Given the description of an element on the screen output the (x, y) to click on. 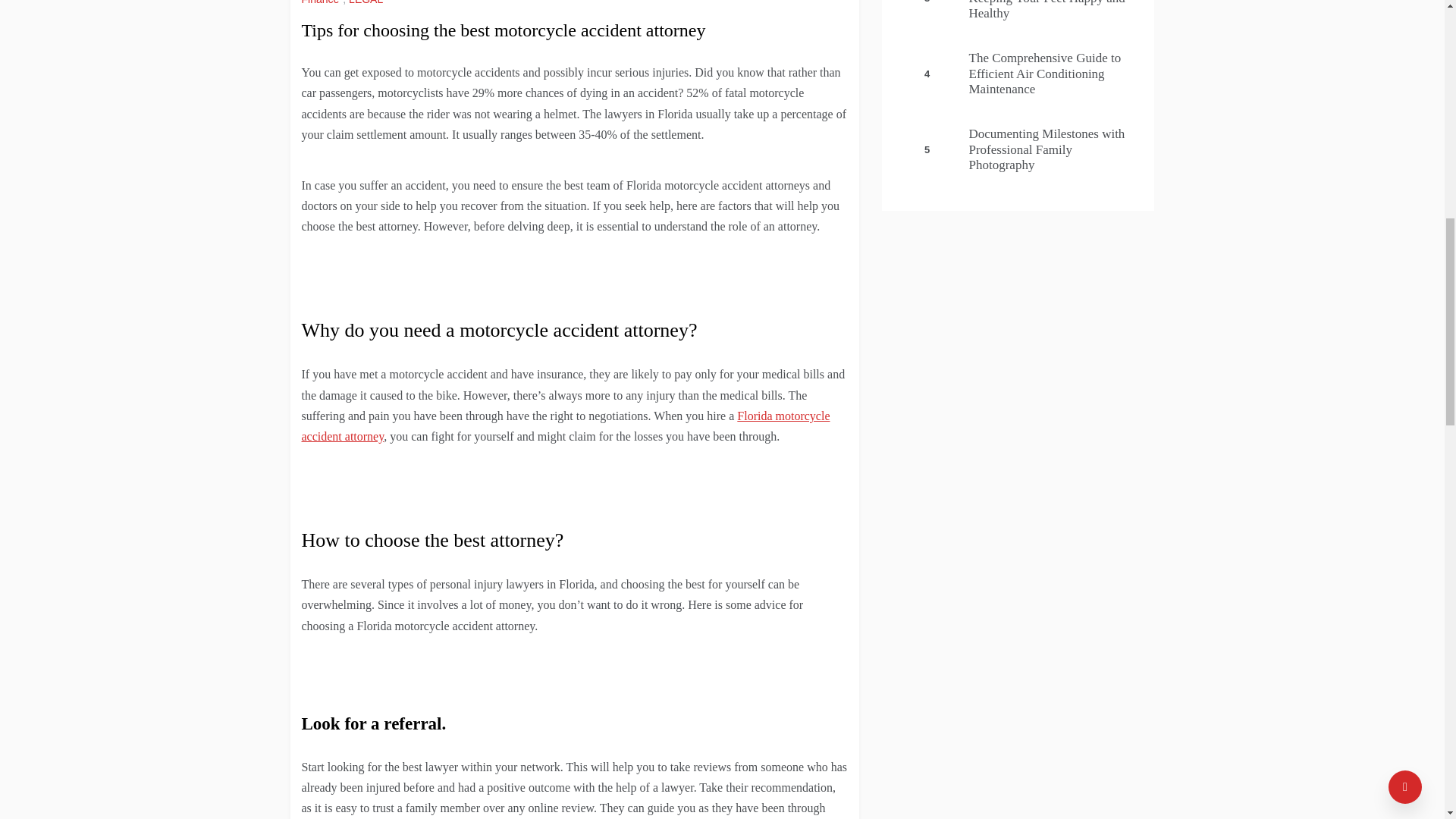
Florida motorcycle accident attorney (565, 426)
Finance (322, 2)
LEGAL (368, 2)
